Given the description of an element on the screen output the (x, y) to click on. 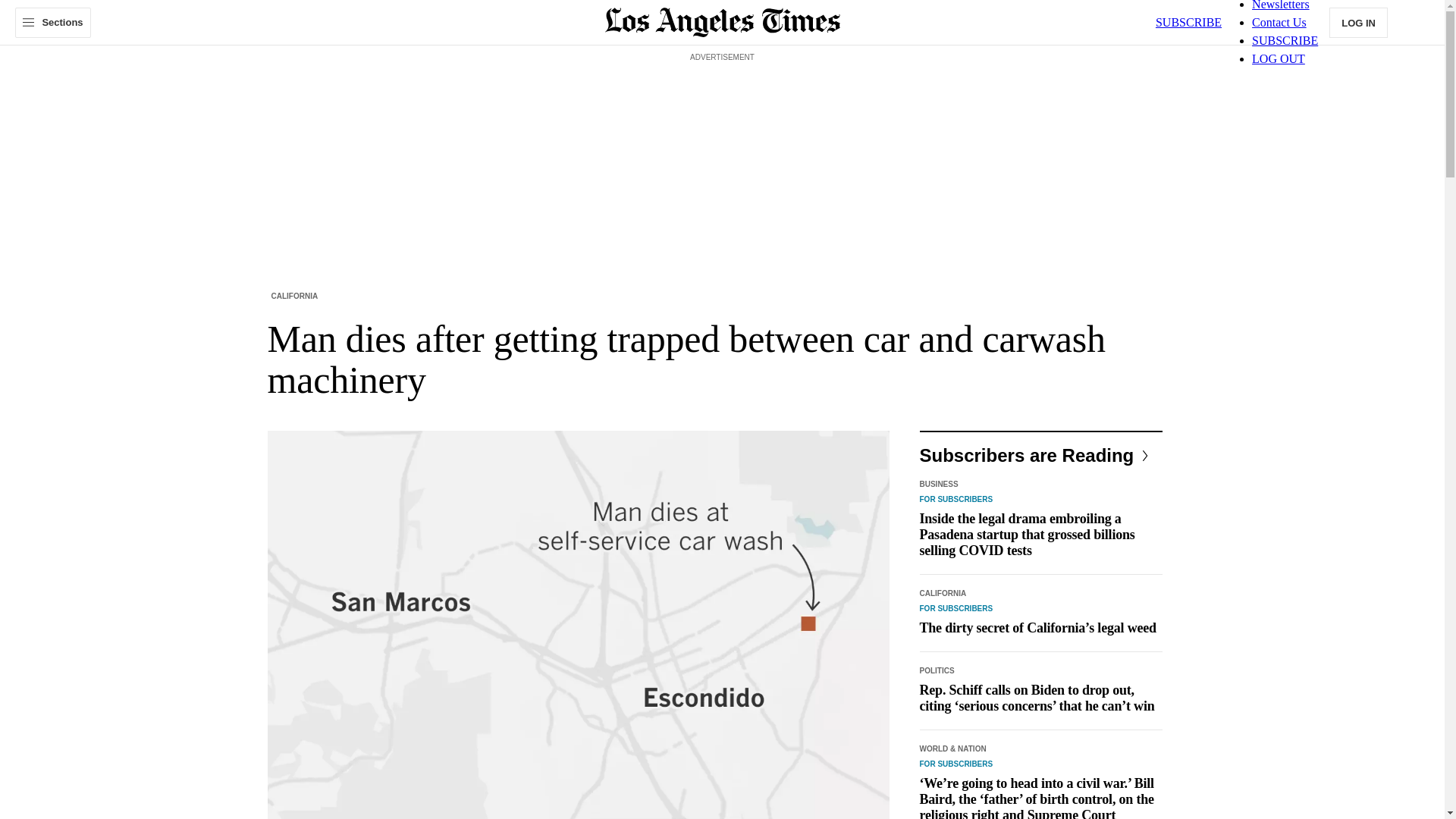
3rd party ad content (722, 100)
